Given the description of an element on the screen output the (x, y) to click on. 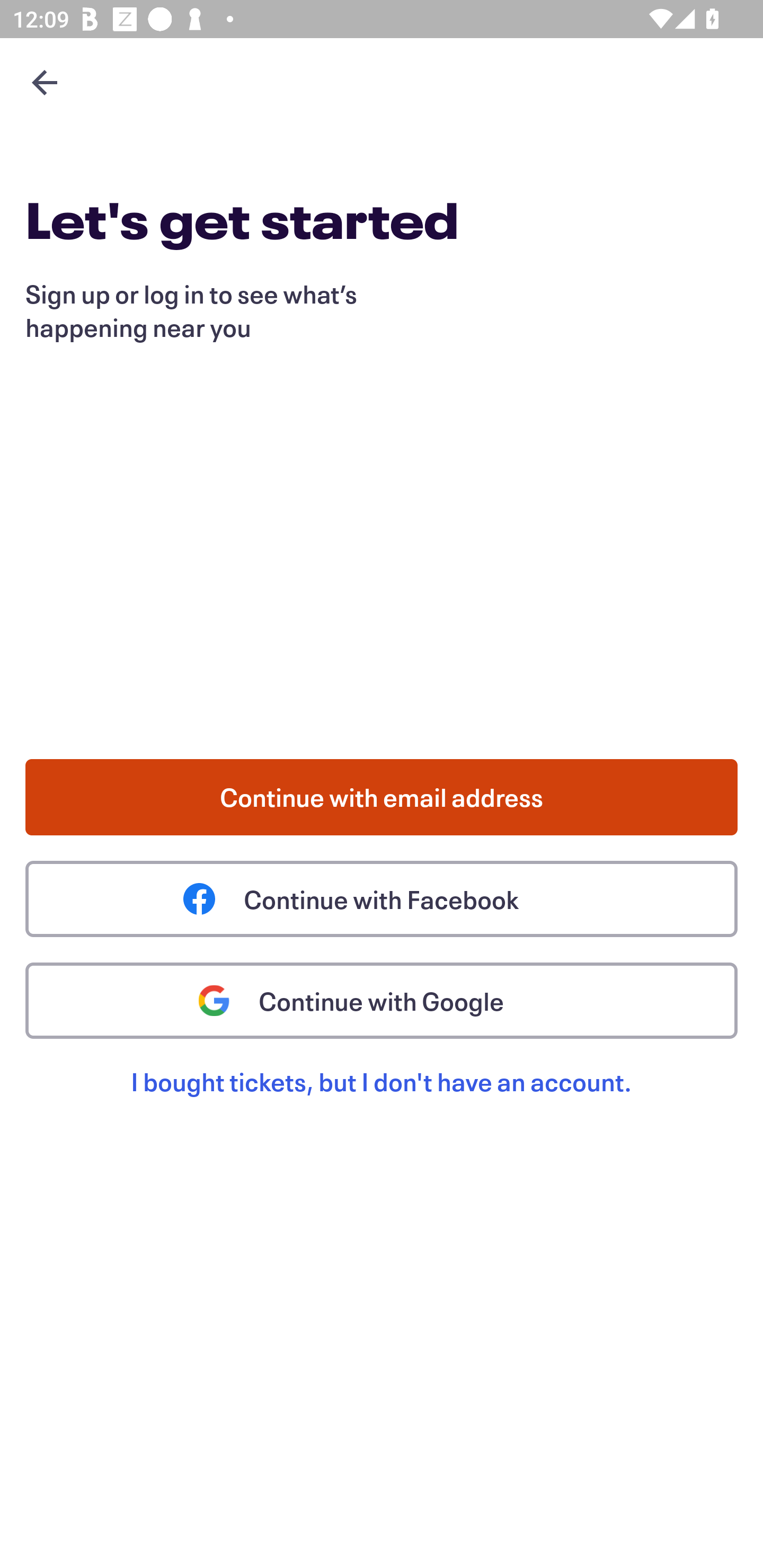
Navigate up (44, 82)
Continue with email address (381, 796)
I bought tickets, but I don't have an account. (381, 1101)
